Given the description of an element on the screen output the (x, y) to click on. 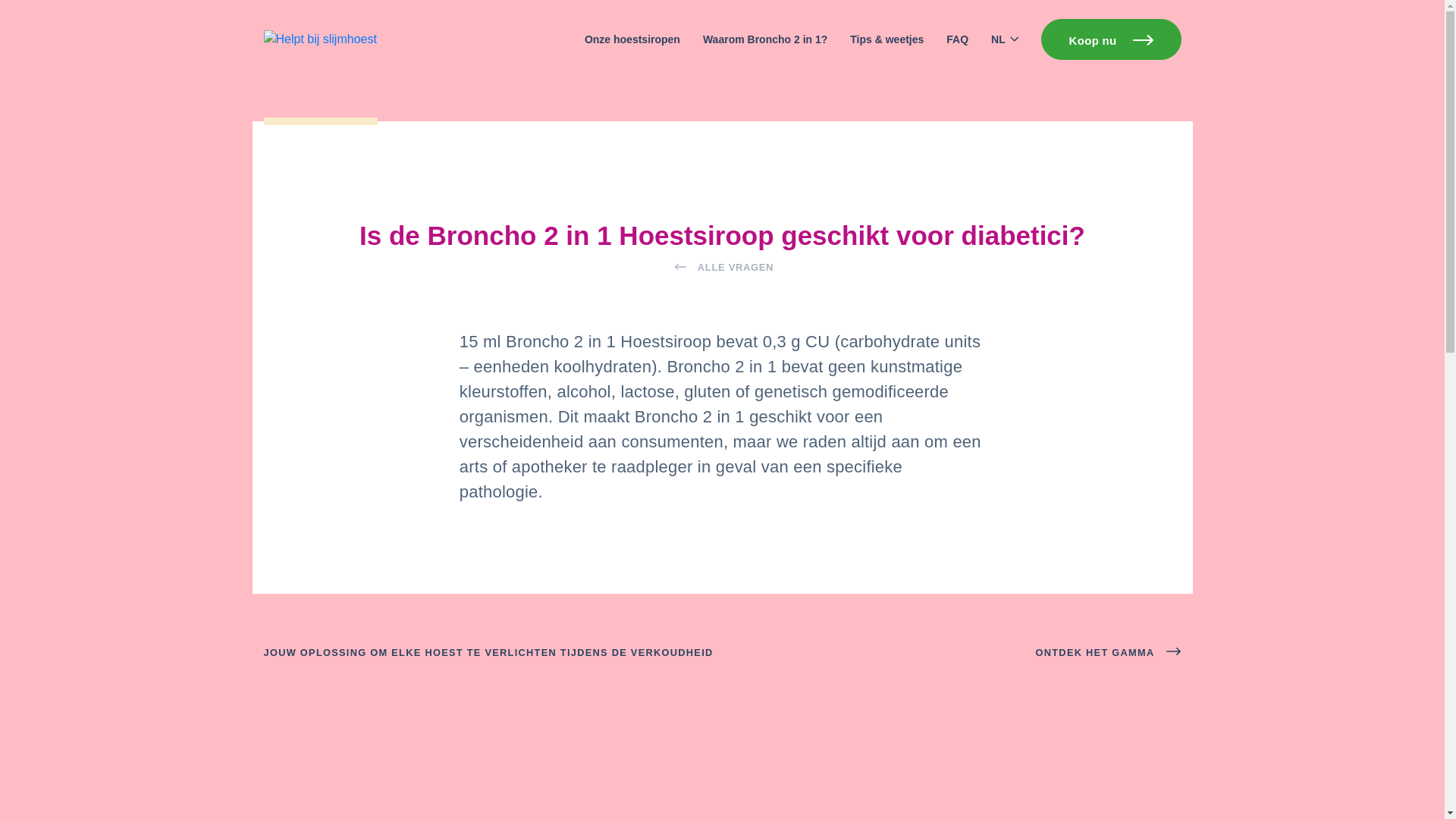
ONTDEK HET GAMMA Element type: text (1108, 652)
Waarom Broncho 2 in 1? Element type: text (764, 39)
ALLE VRAGEN Element type: text (722, 267)
FAQ Element type: text (957, 39)
Onze hoestsiropen Element type: text (632, 39)
Koop nu Element type: text (1111, 39)
Tips & weetjes Element type: text (886, 39)
